Given the description of an element on the screen output the (x, y) to click on. 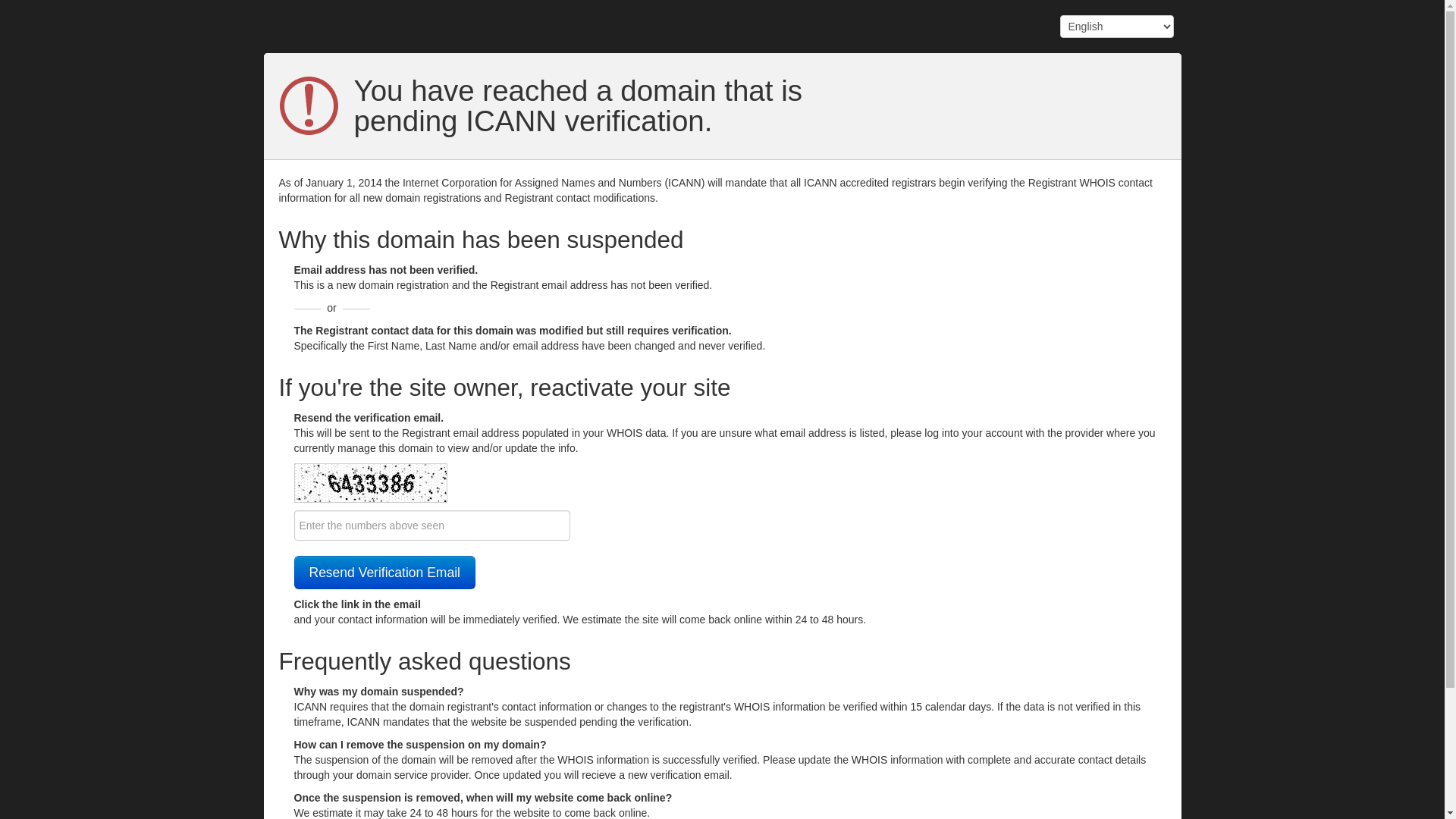
Resend Verification Email Element type: text (384, 572)
